Given the description of an element on the screen output the (x, y) to click on. 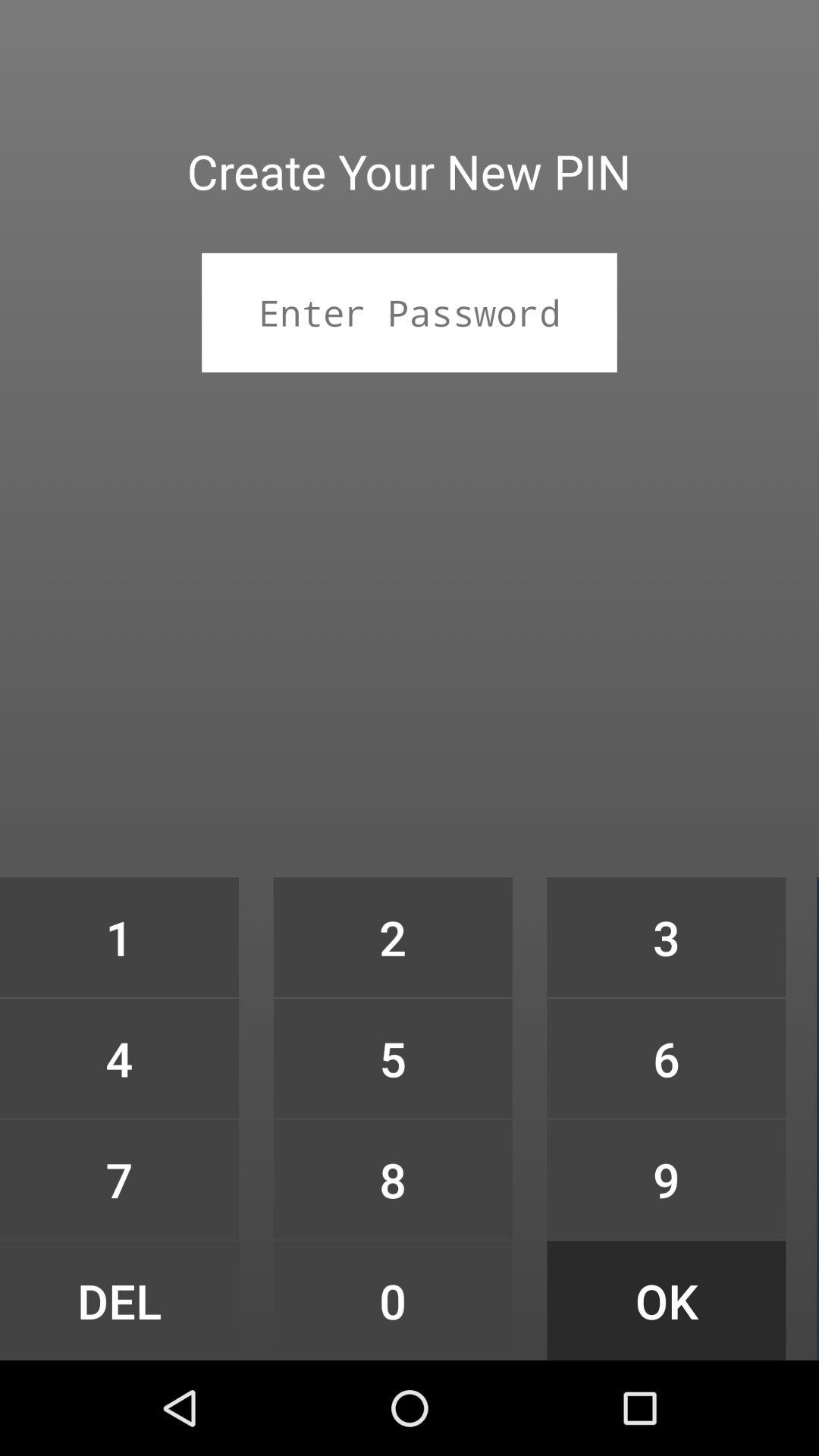
select icon above the 6 (666, 937)
